Given the description of an element on the screen output the (x, y) to click on. 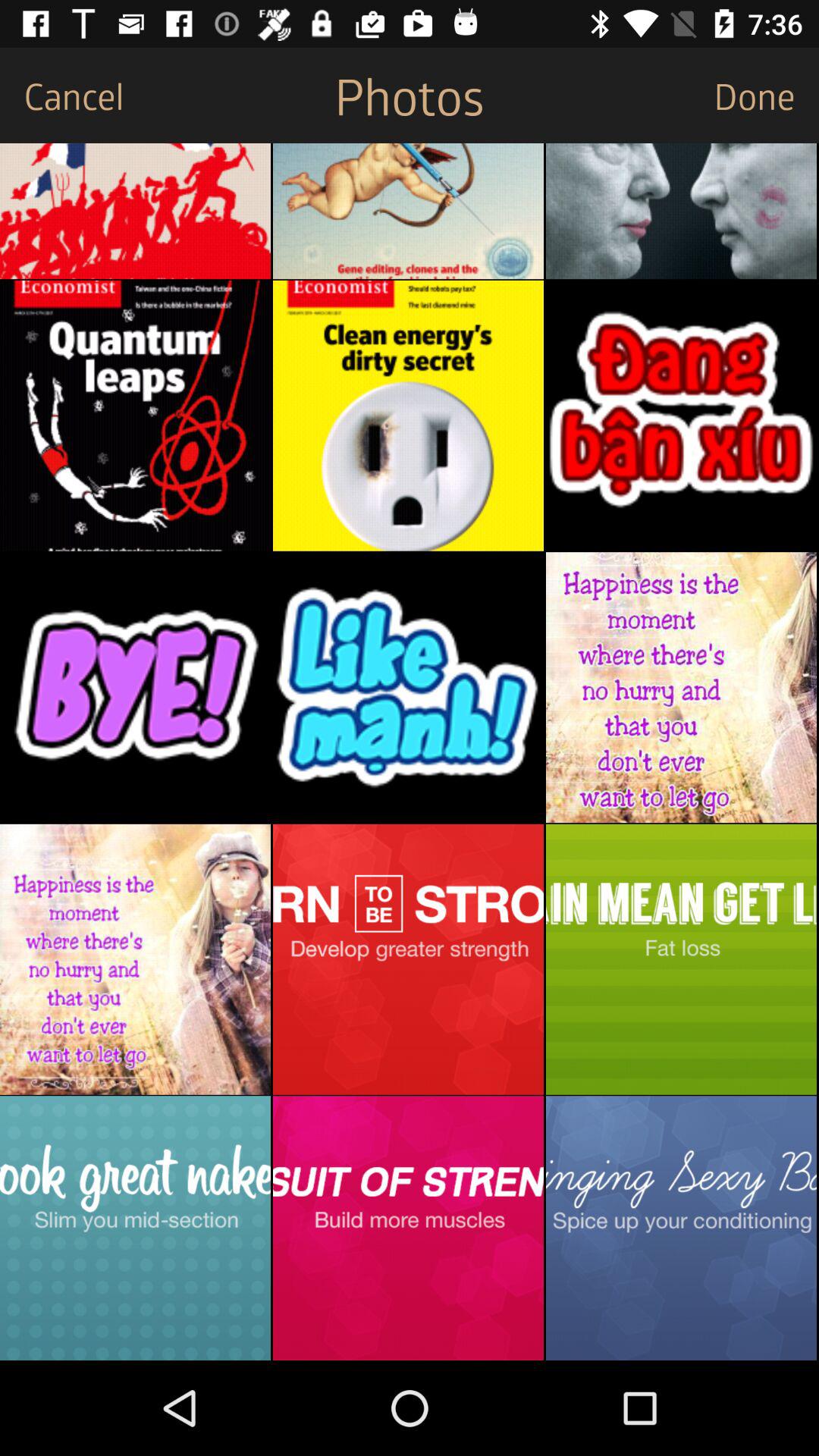
click the item at the bottom left corner (135, 1227)
